Given the description of an element on the screen output the (x, y) to click on. 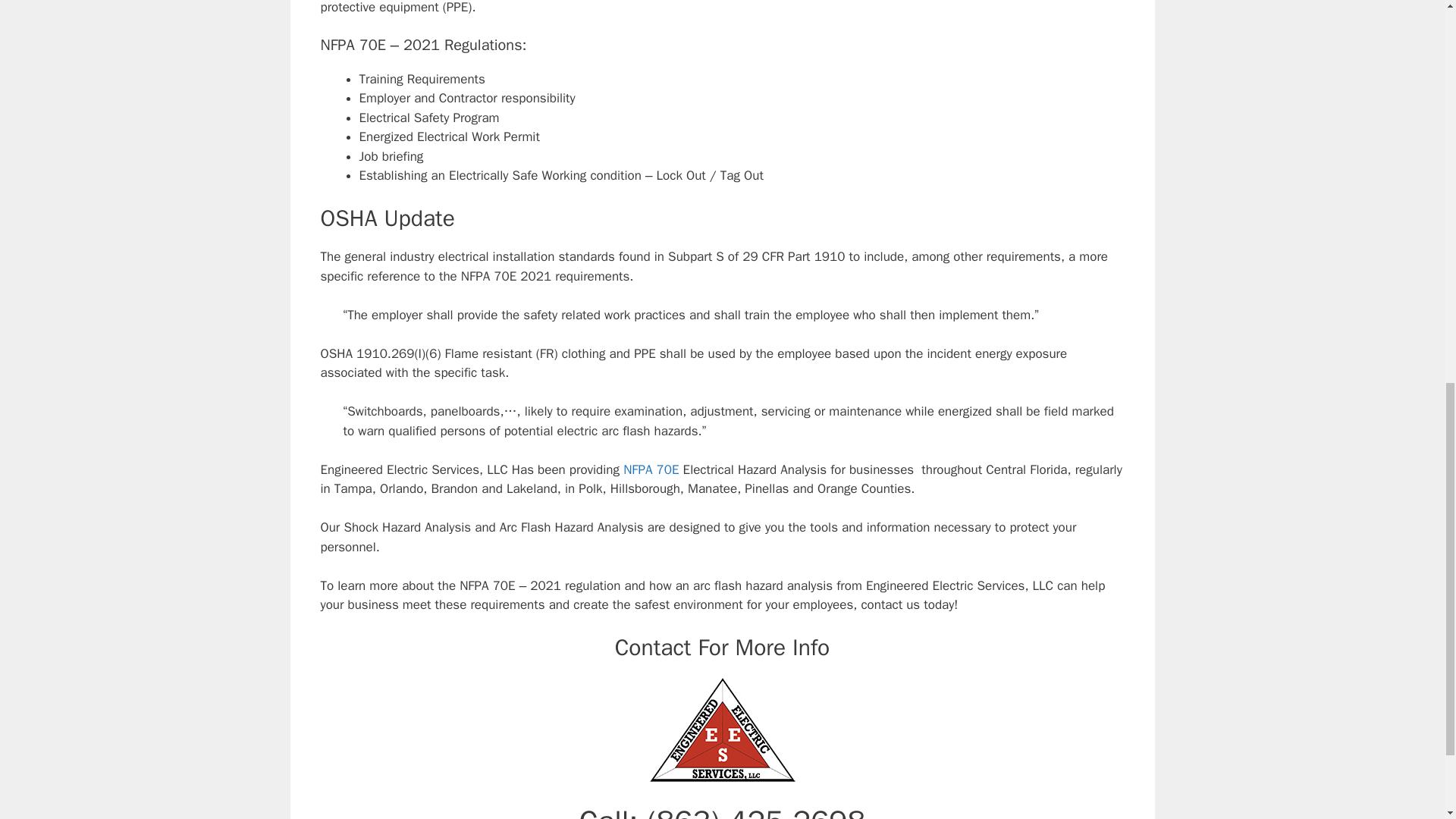
NFPA 70E (650, 468)
Arc Flash Florida (721, 729)
